Given the description of an element on the screen output the (x, y) to click on. 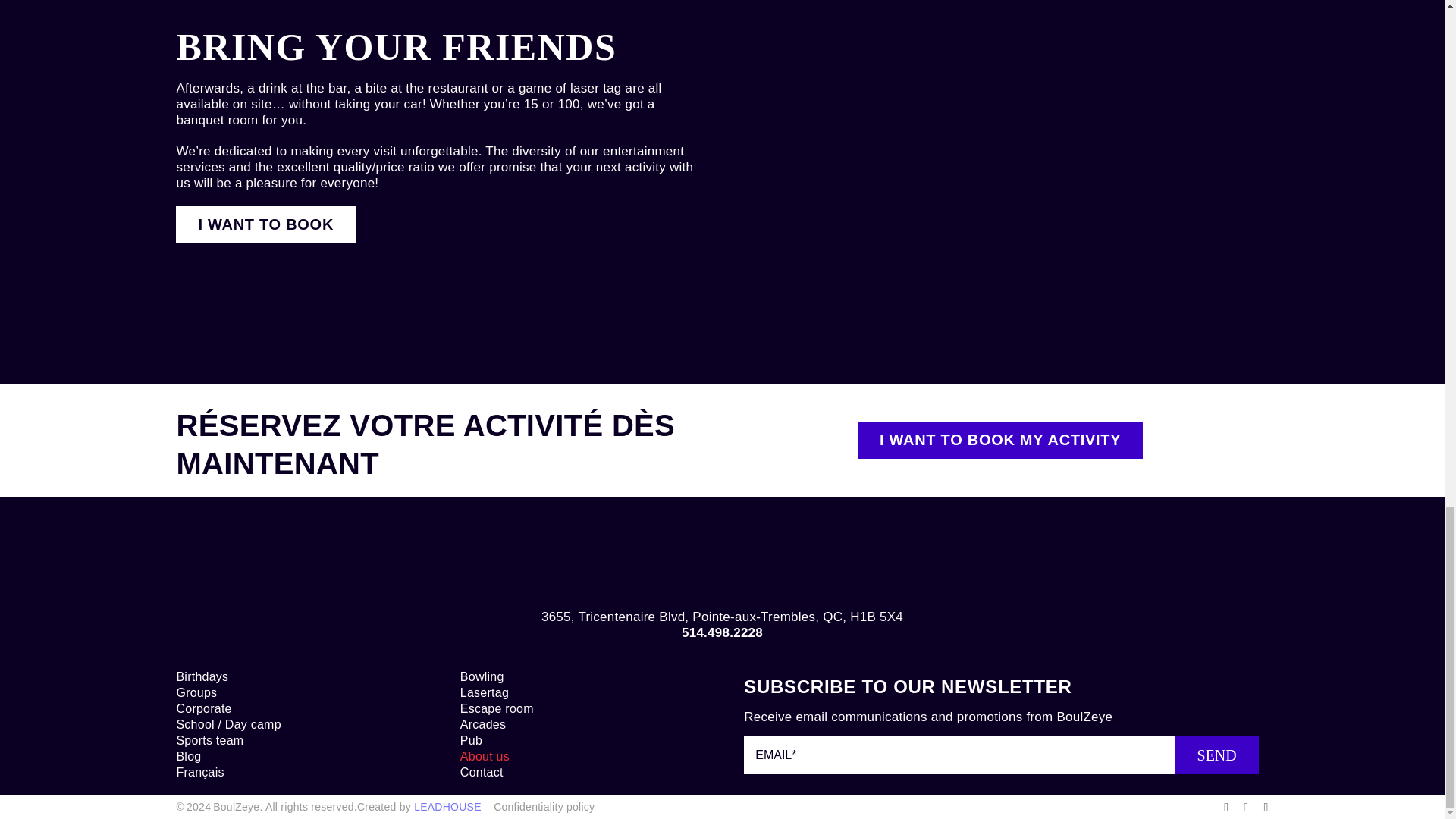
Birthdays (296, 676)
514.498.2228 (721, 632)
Pub (580, 740)
I WANT TO BOOK (265, 224)
Groups (296, 692)
Escape room (580, 708)
Blog (296, 756)
Corporate (296, 708)
Bowling (580, 676)
Logo de Boulzeye Pub et Attractions (721, 558)
3655, Tricentenaire Blvd, Pointe-aux-Trembles, QC, H1B 5X4 (721, 616)
Lasertag (580, 692)
About us (580, 756)
Contact (580, 772)
I WANT TO BOOK MY ACTIVITY (999, 439)
